Given the description of an element on the screen output the (x, y) to click on. 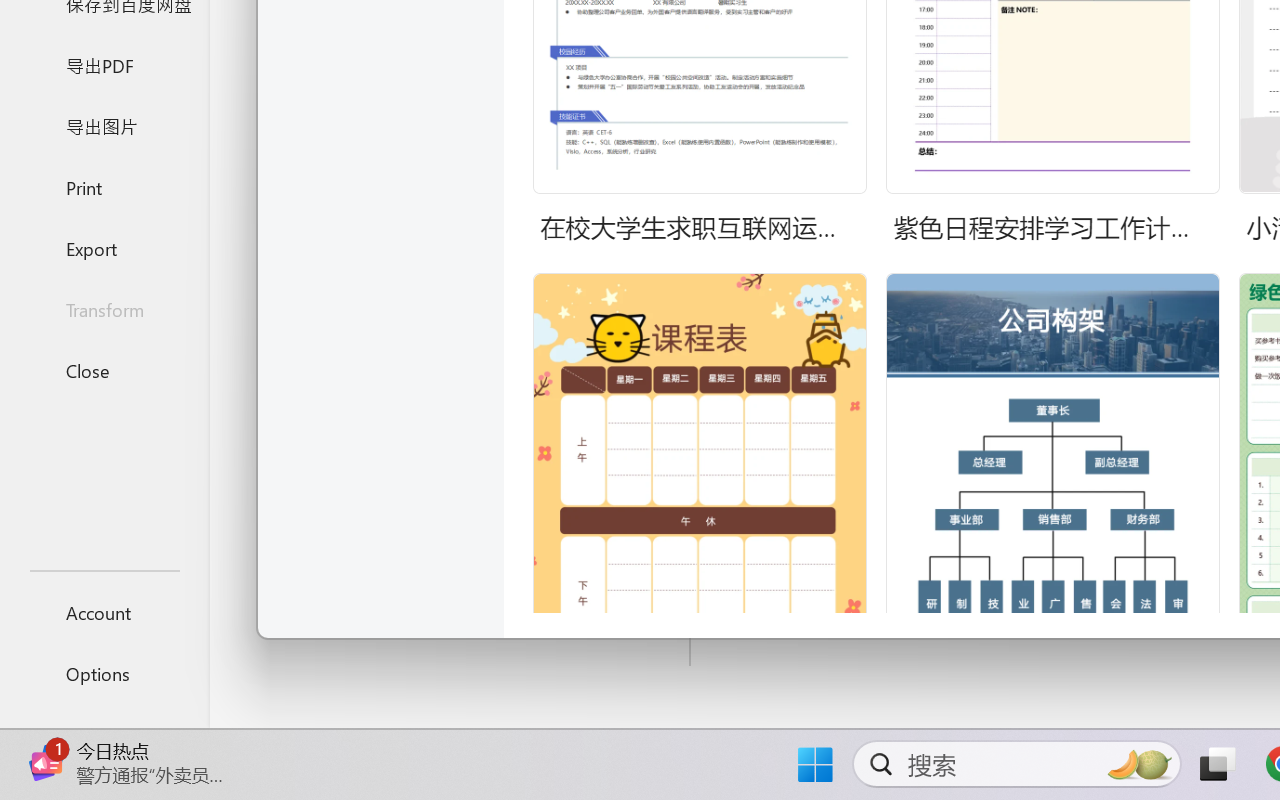
Account (104, 612)
Export (104, 248)
Print (104, 186)
